Given the description of an element on the screen output the (x, y) to click on. 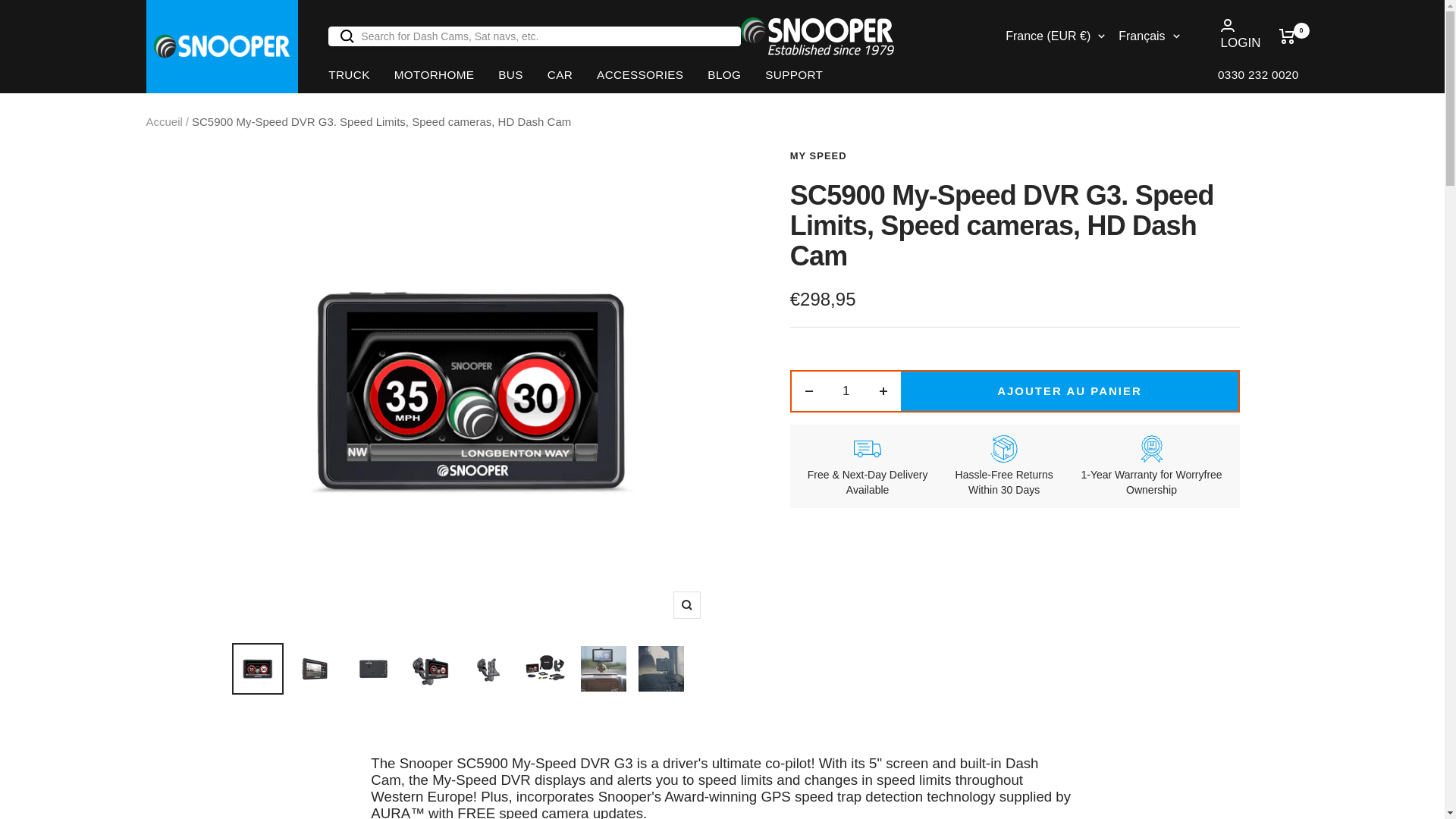
AT (1016, 118)
SE (1016, 588)
Snooper (817, 36)
BE (1016, 146)
bg (1134, 256)
ES (1016, 284)
GR (1016, 395)
HR (1016, 229)
IT (1016, 450)
BG (1016, 173)
